Given the description of an element on the screen output the (x, y) to click on. 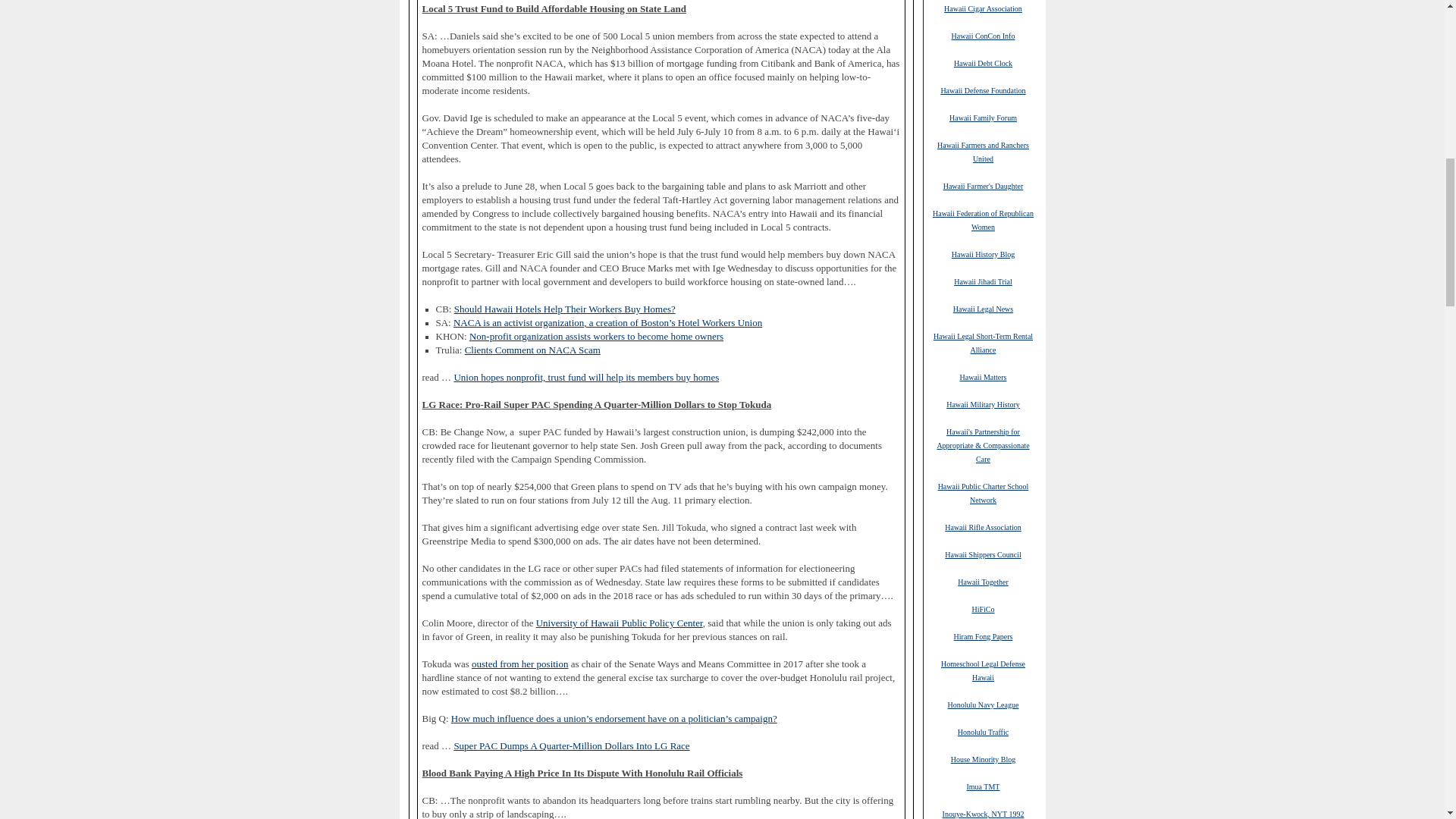
ousted from her position (519, 664)
University of Hawaii Public Policy Center (619, 623)
Super PAC Dumps A Quarter-Million Dollars Into LG Race (570, 746)
Should Hawaii Hotels Help Their Workers Buy Homes? (564, 308)
Clients Comment on NACA Scam (531, 349)
